Given the description of an element on the screen output the (x, y) to click on. 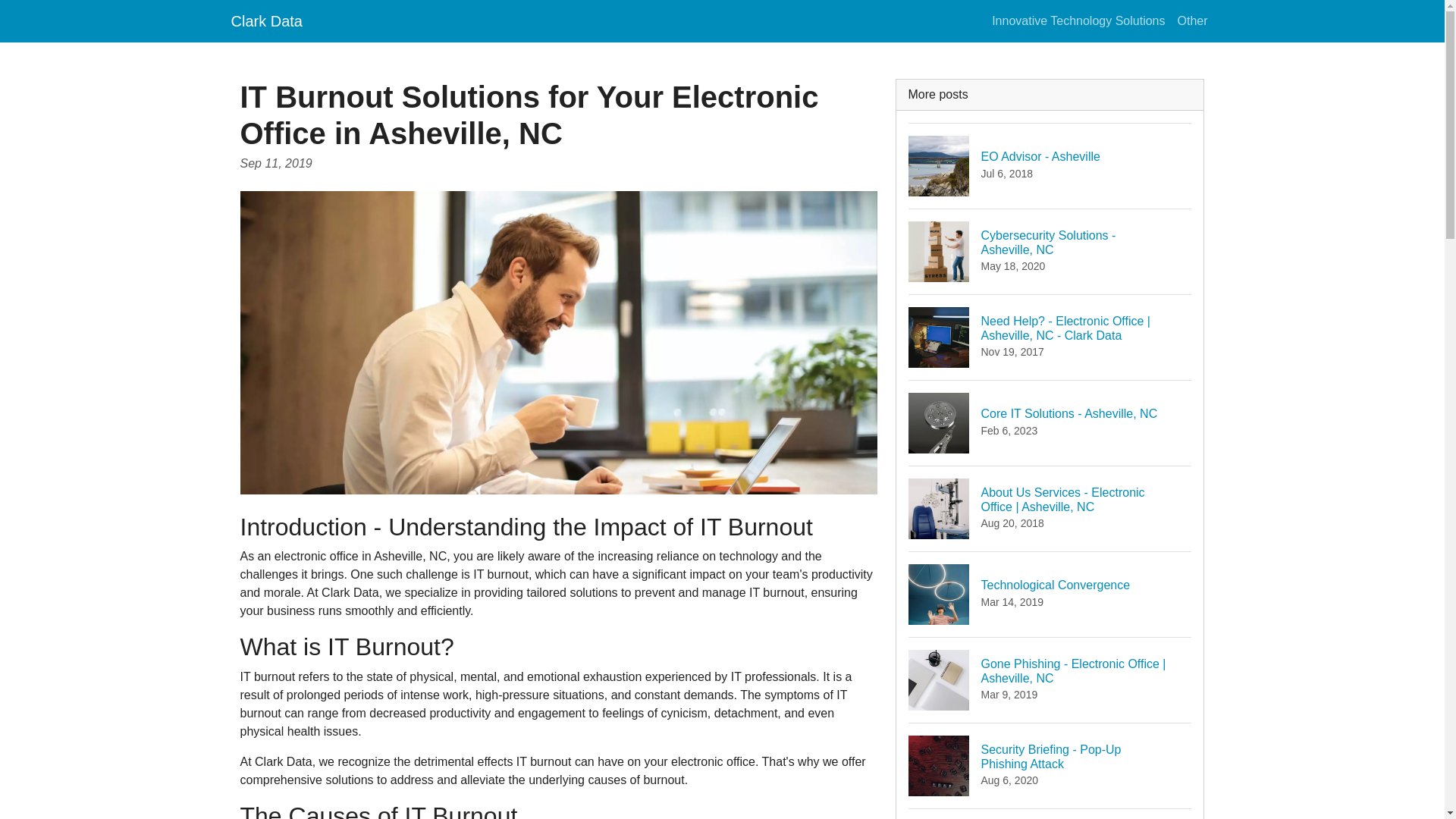
Clark Data (1050, 165)
Other (1050, 765)
Innovative Technology Solutions (1050, 251)
